Given the description of an element on the screen output the (x, y) to click on. 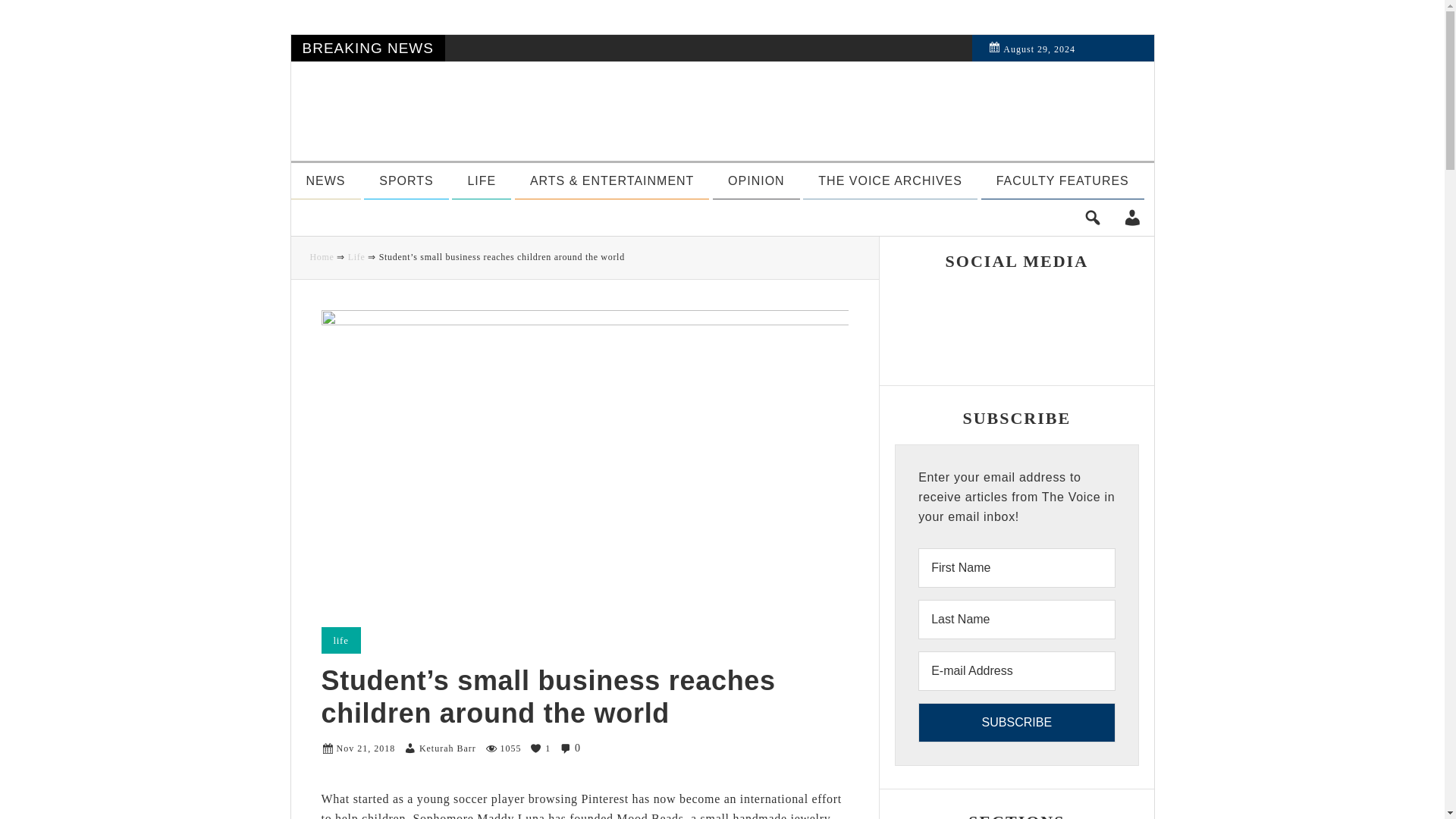
Instagram (974, 301)
FACULTY FEATURES (1062, 180)
View Articles in the Life Section (481, 180)
The Vanguard Voice (539, 110)
View Articles in the Arts and Entertainment Section (612, 180)
OPINION (756, 180)
View Articles in the Opinion Section (756, 180)
SPORTS (406, 180)
View Articles in the Sports Section (406, 180)
Home (320, 256)
